Given the description of an element on the screen output the (x, y) to click on. 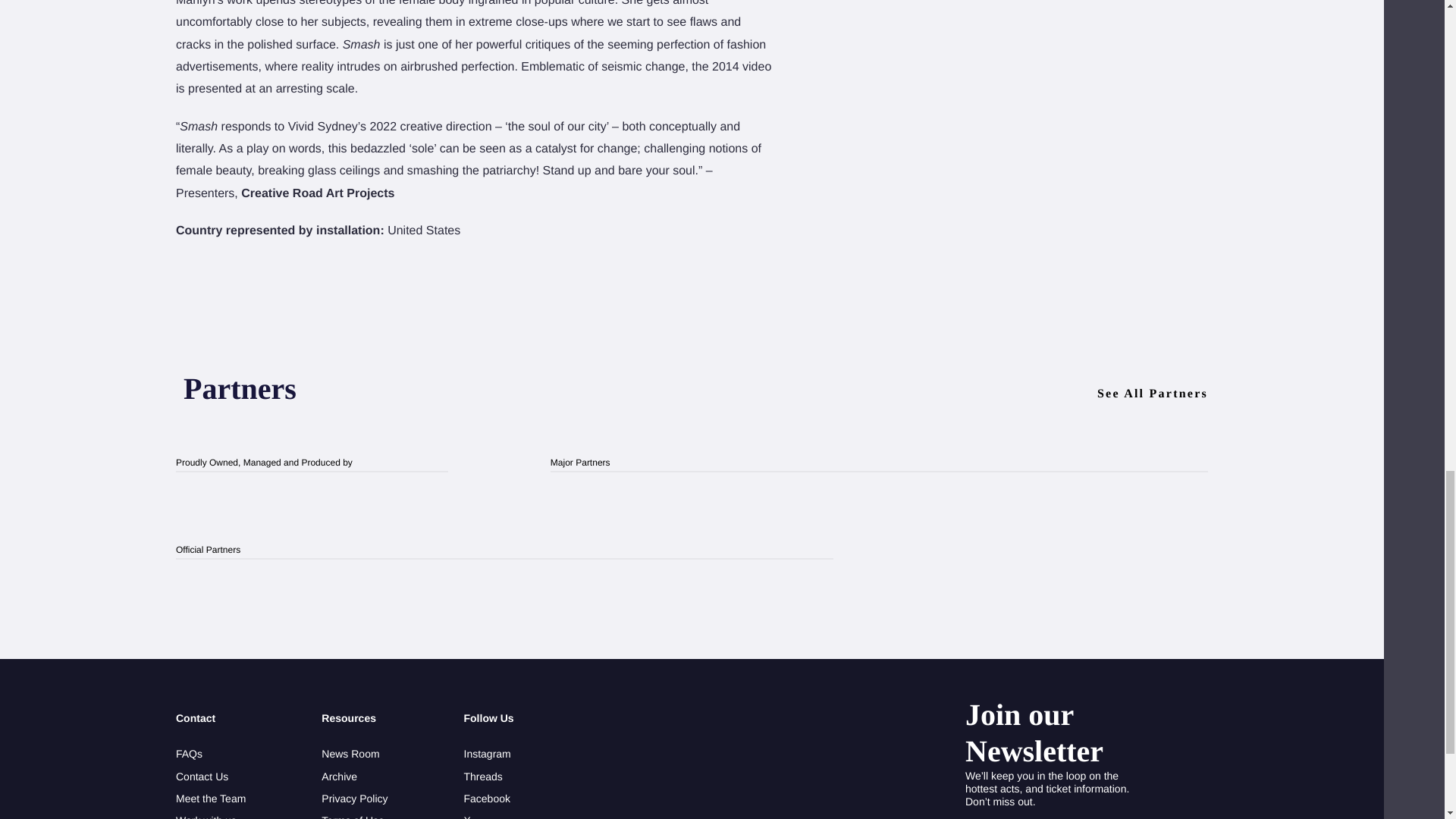
See All Partners (1152, 393)
Archive (354, 775)
Archive (354, 775)
Contact Us (211, 775)
News Room (354, 753)
FAQs (211, 753)
Meet the Team (211, 798)
